Given the description of an element on the screen output the (x, y) to click on. 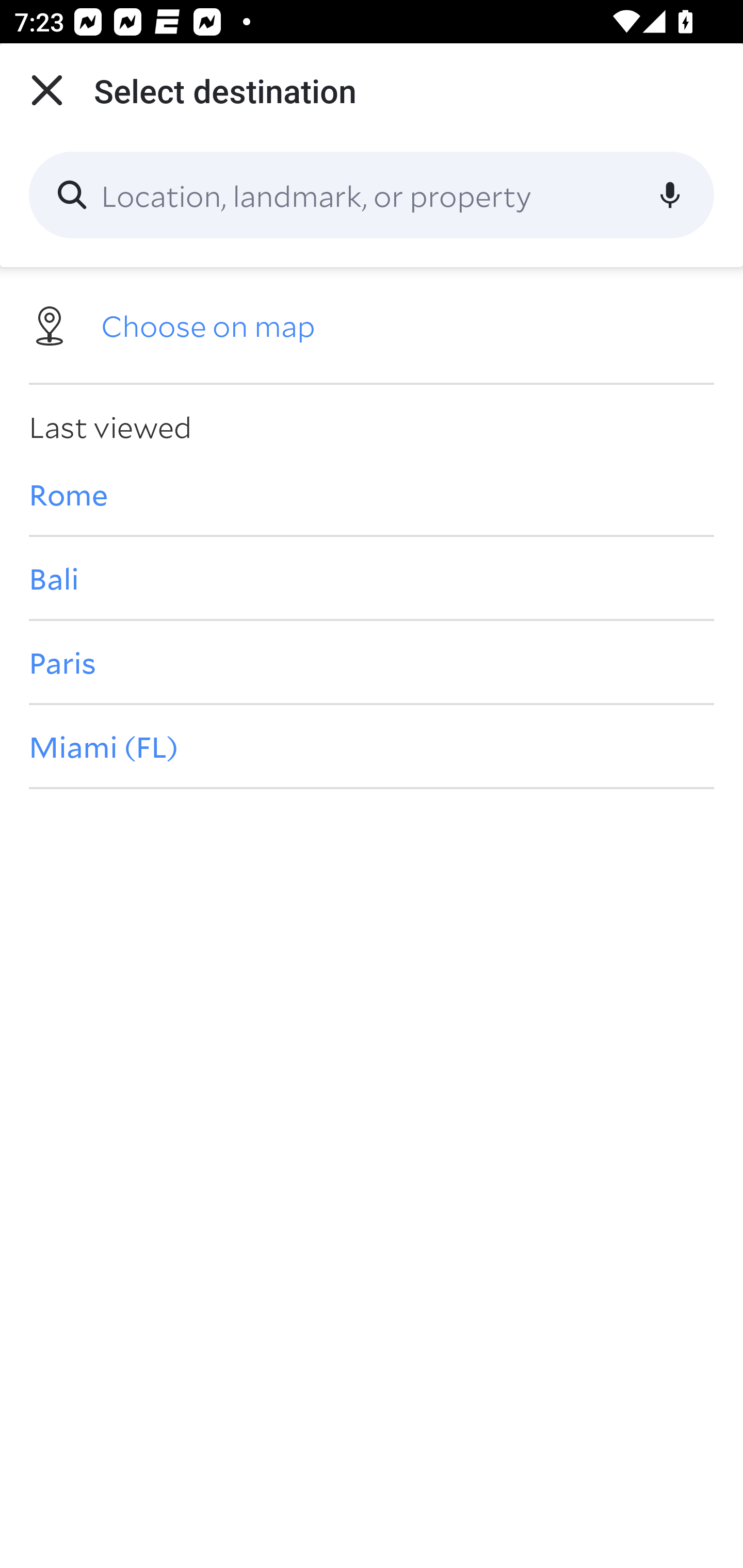
Location, landmark, or property (371, 195)
Choose on map (371, 324)
Rome (371, 493)
Bali (371, 577)
Paris (371, 661)
Miami (FL) (371, 746)
